Given the description of an element on the screen output the (x, y) to click on. 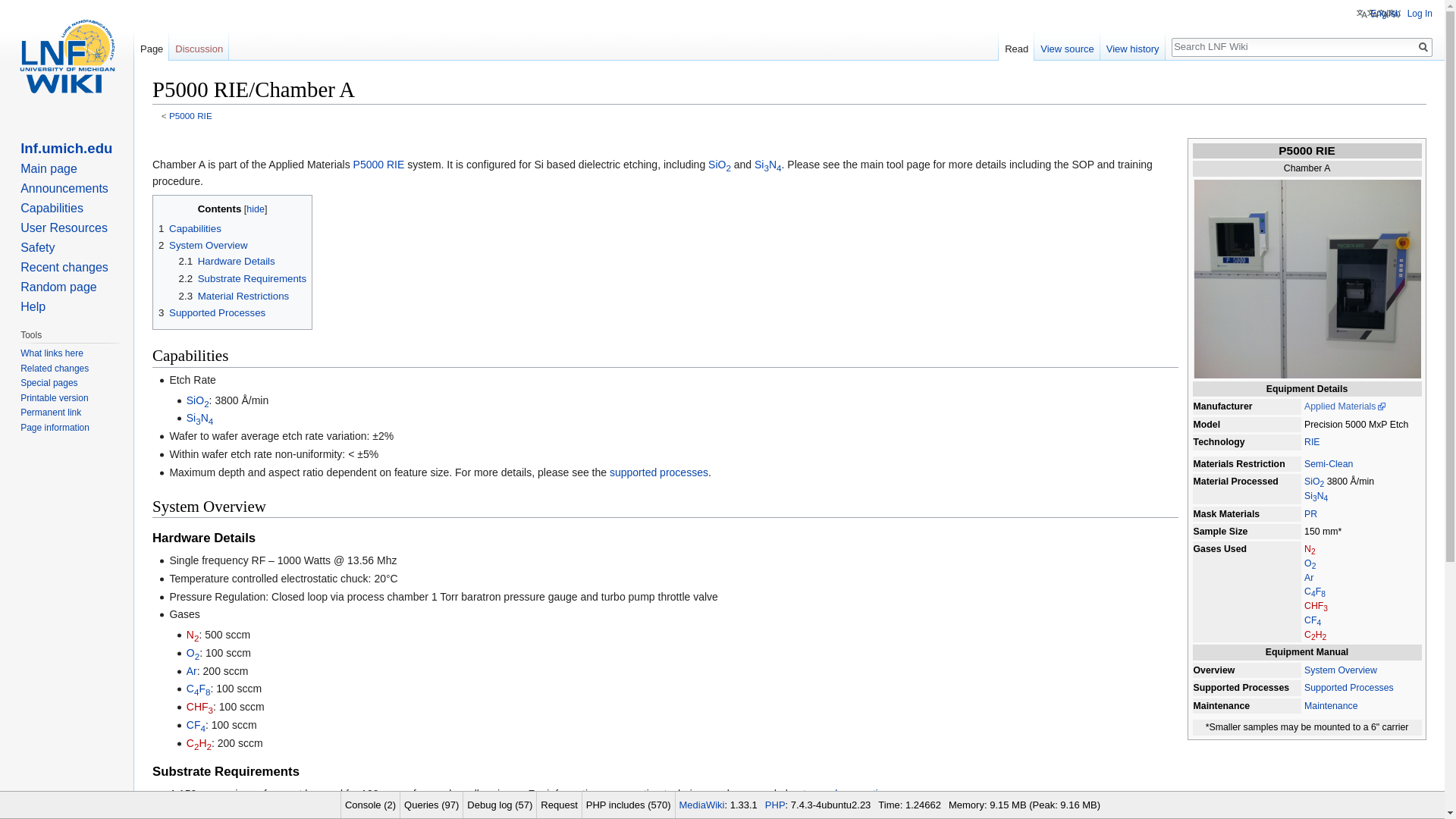
CF4 (1312, 620)
Go (1423, 46)
Silicon dioxide (1313, 480)
CHF3 (1315, 605)
Supported Processes (1348, 687)
1 Capabilities (189, 228)
C4F8 (198, 688)
SiO2 (1313, 480)
N2 (1310, 548)
Applied Materials (1345, 406)
CF4 (1312, 620)
2.3 Material Restrictions (234, 296)
System Overview (1340, 670)
Si3N4 (200, 417)
PR (1310, 512)
